Given the description of an element on the screen output the (x, y) to click on. 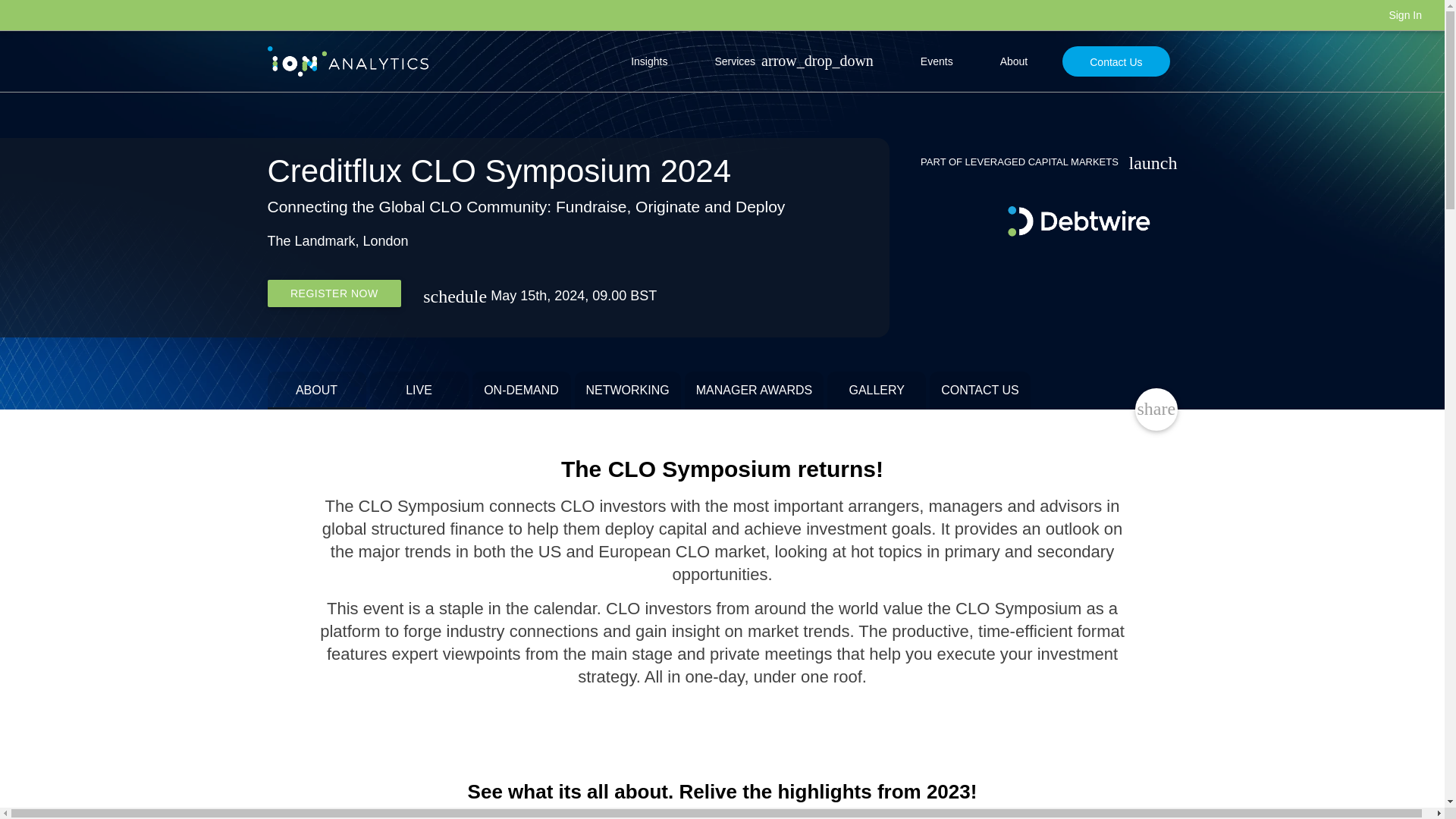
ON-DEMAND (520, 390)
Events (936, 61)
Insights (648, 61)
MANAGER AWARDS (754, 390)
NETWORKING (628, 390)
LIVE (418, 390)
About (1014, 61)
REGISTER NOW (333, 293)
ABOUT (315, 390)
Sign In (1405, 15)
share (1156, 409)
PART OF LEVERAGED CAPITAL MARKETS launch (1040, 162)
GALLERY (876, 390)
CONTACT US (980, 390)
Contact Us (1115, 60)
